Given the description of an element on the screen output the (x, y) to click on. 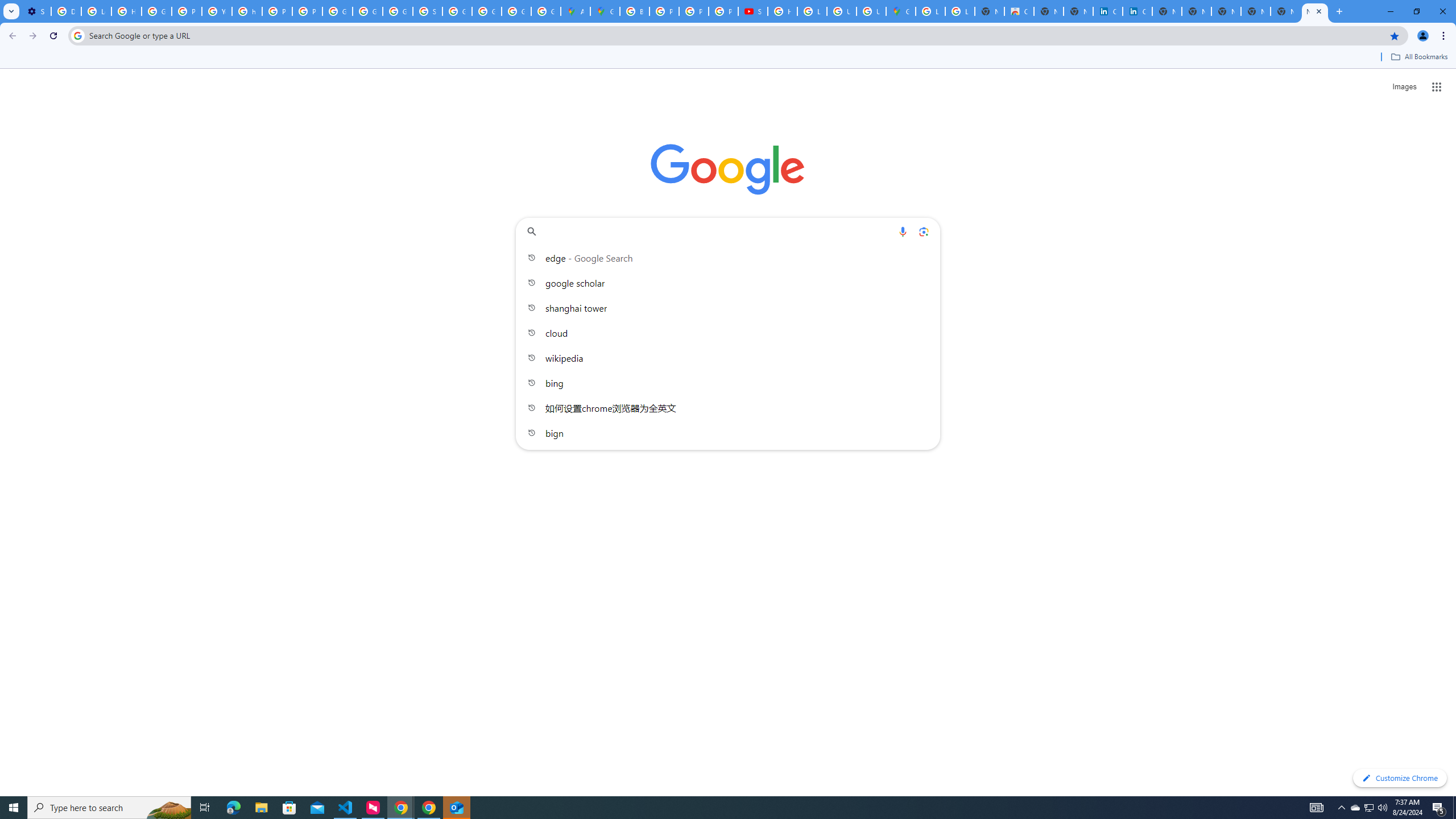
Chrome Web Store (1018, 11)
Learn how to find your photos - Google Photos Help (95, 11)
Search for Images  (1403, 87)
Search by voice (902, 230)
